Given the description of an element on the screen output the (x, y) to click on. 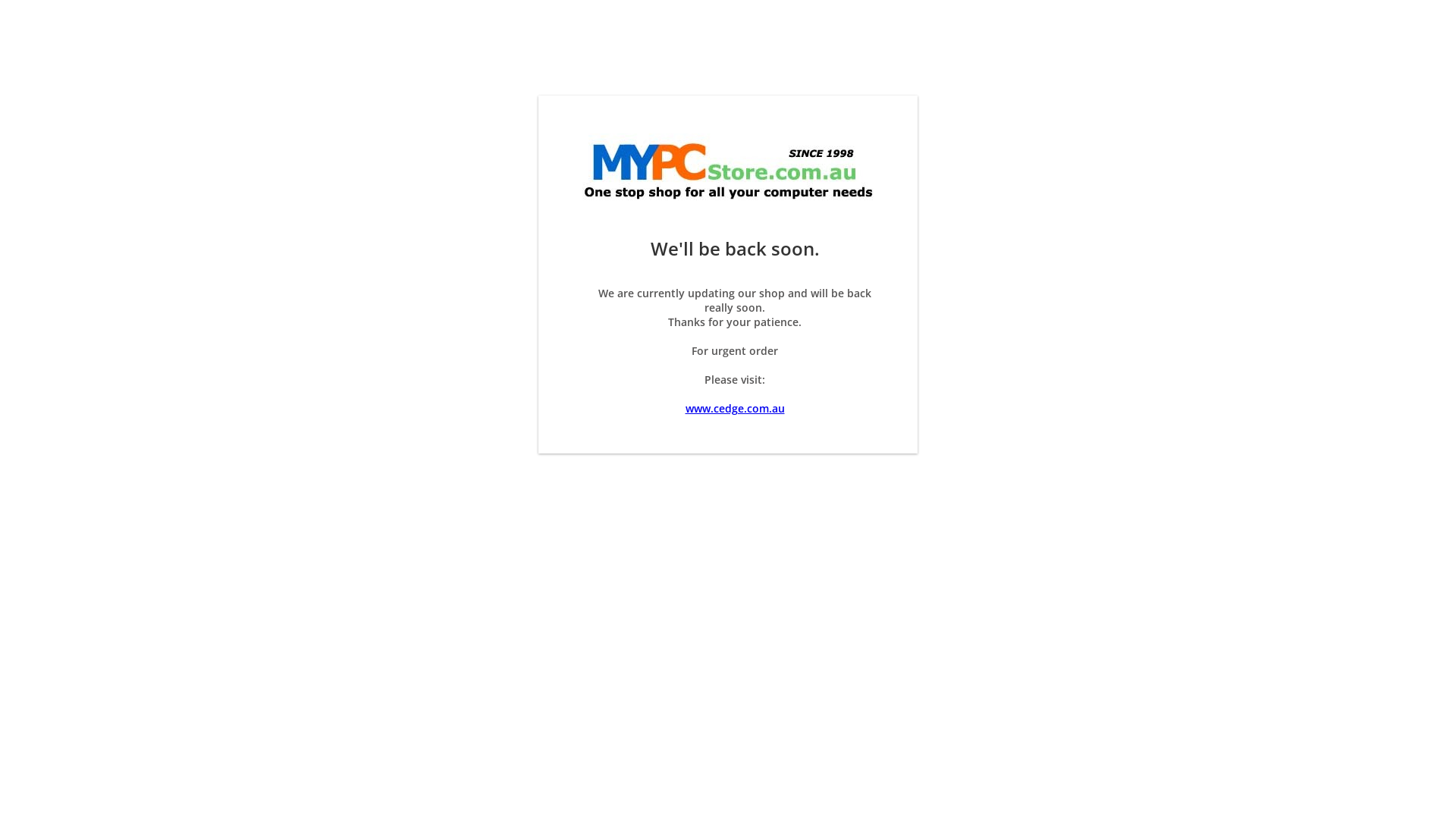
www.cedge.com.au Element type: text (734, 408)
